Given the description of an element on the screen output the (x, y) to click on. 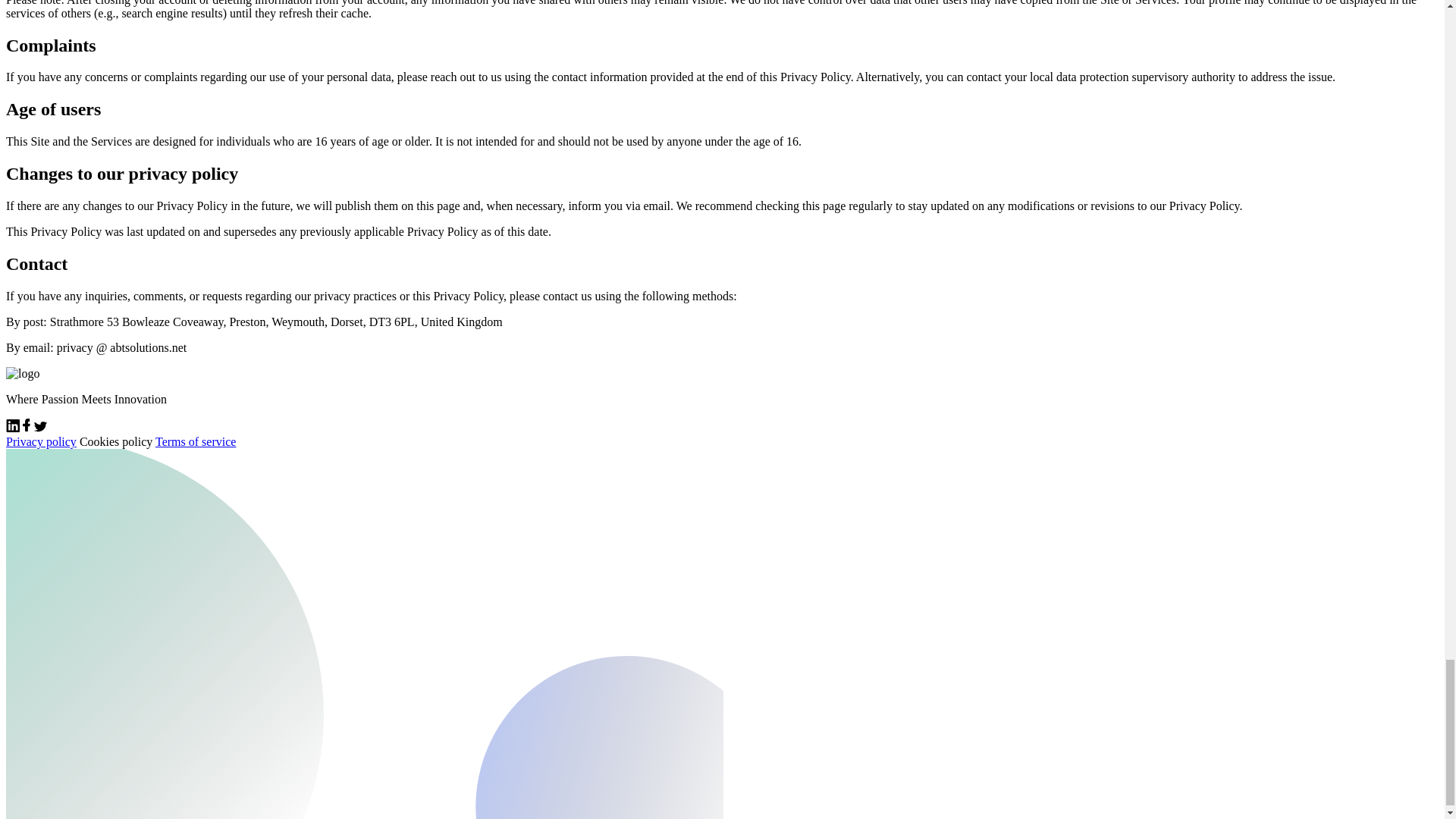
Terms of service (195, 440)
Cookies policy (116, 440)
Privacy policy (41, 440)
